Given the description of an element on the screen output the (x, y) to click on. 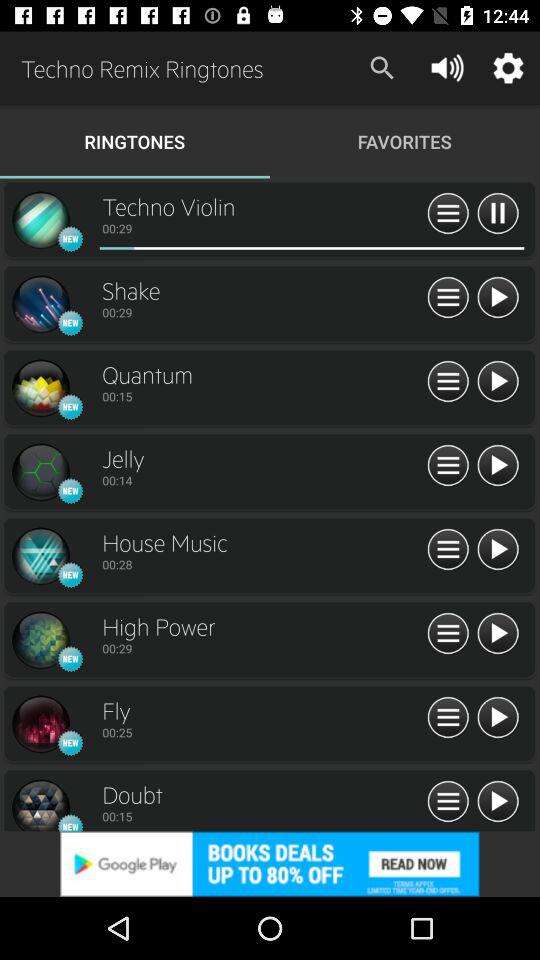
play song (497, 801)
